Given the description of an element on the screen output the (x, y) to click on. 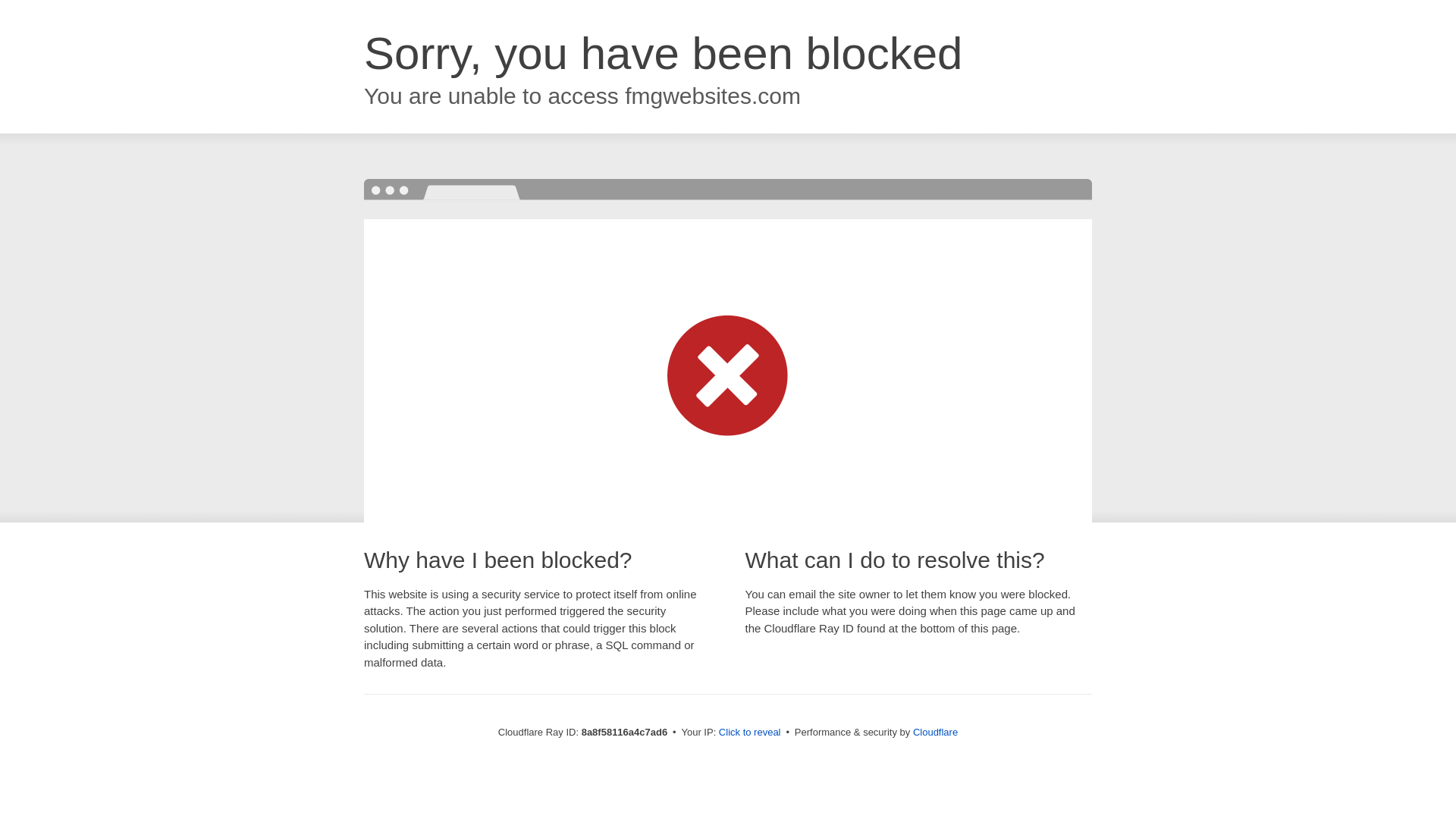
Cloudflare (935, 731)
Click to reveal (749, 732)
